Given the description of an element on the screen output the (x, y) to click on. 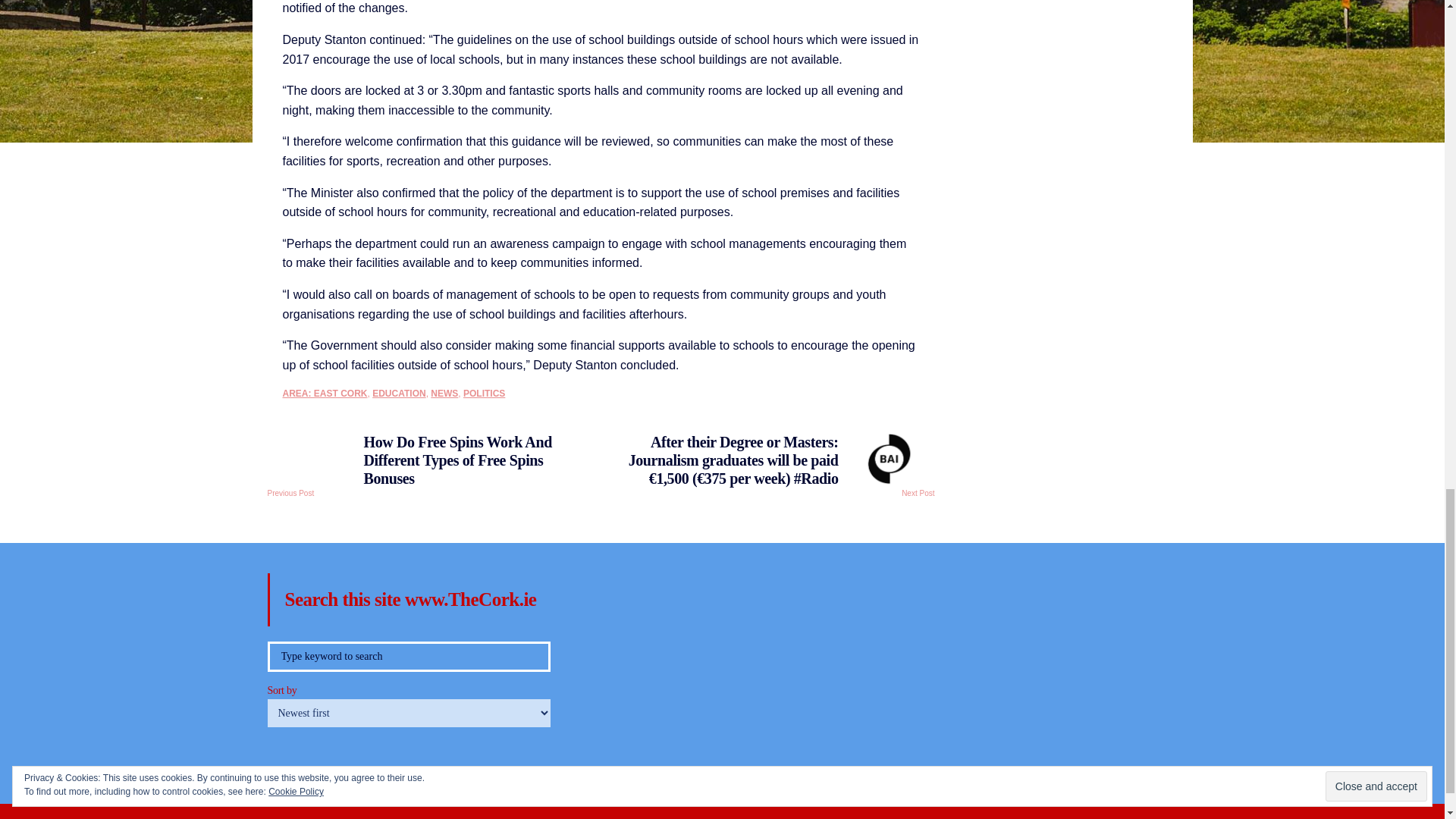
Type keyword to search (408, 656)
Type keyword to search (408, 656)
